Given the description of an element on the screen output the (x, y) to click on. 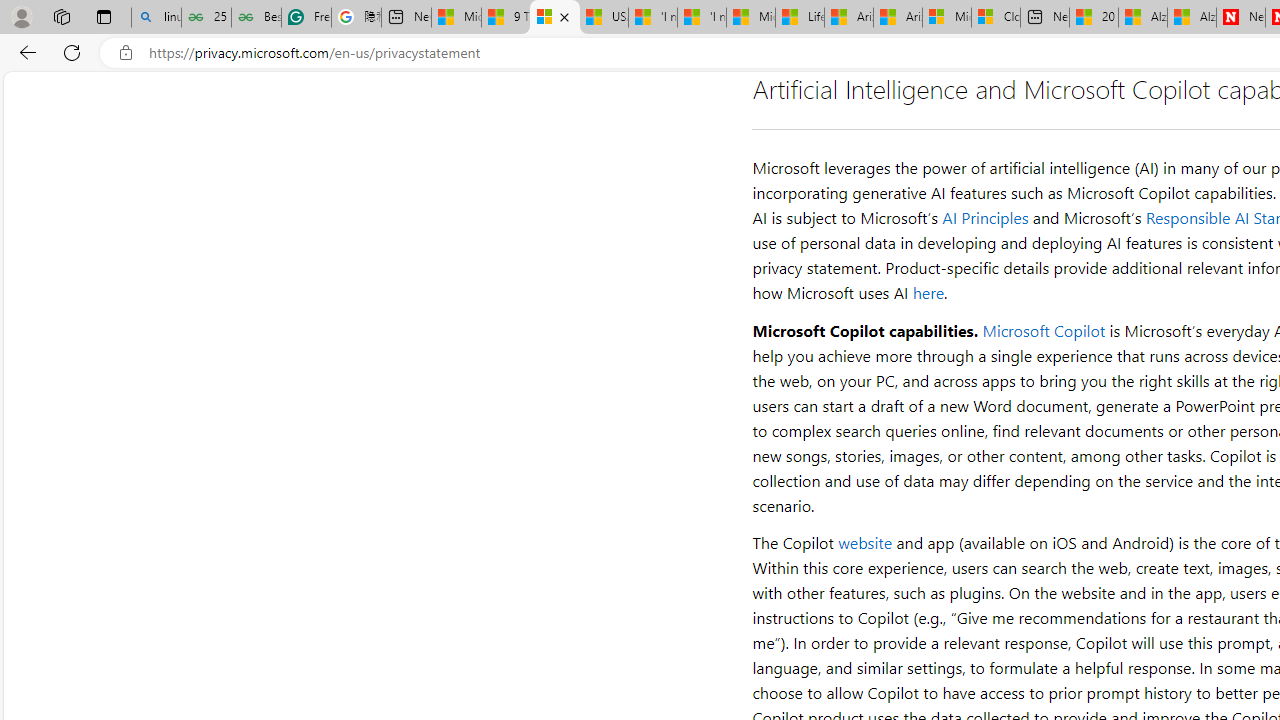
website (865, 542)
USA TODAY - MSN (603, 17)
20 Ways to Boost Your Protein Intake at Every Meal (1093, 17)
here (927, 292)
Best SSL Certificates Provider in India - GeeksforGeeks (256, 17)
Cloud Computing Services | Microsoft Azure (995, 17)
25 Basic Linux Commands For Beginners - GeeksforGeeks (206, 17)
Microsoft Copilot (1043, 329)
